Given the description of an element on the screen output the (x, y) to click on. 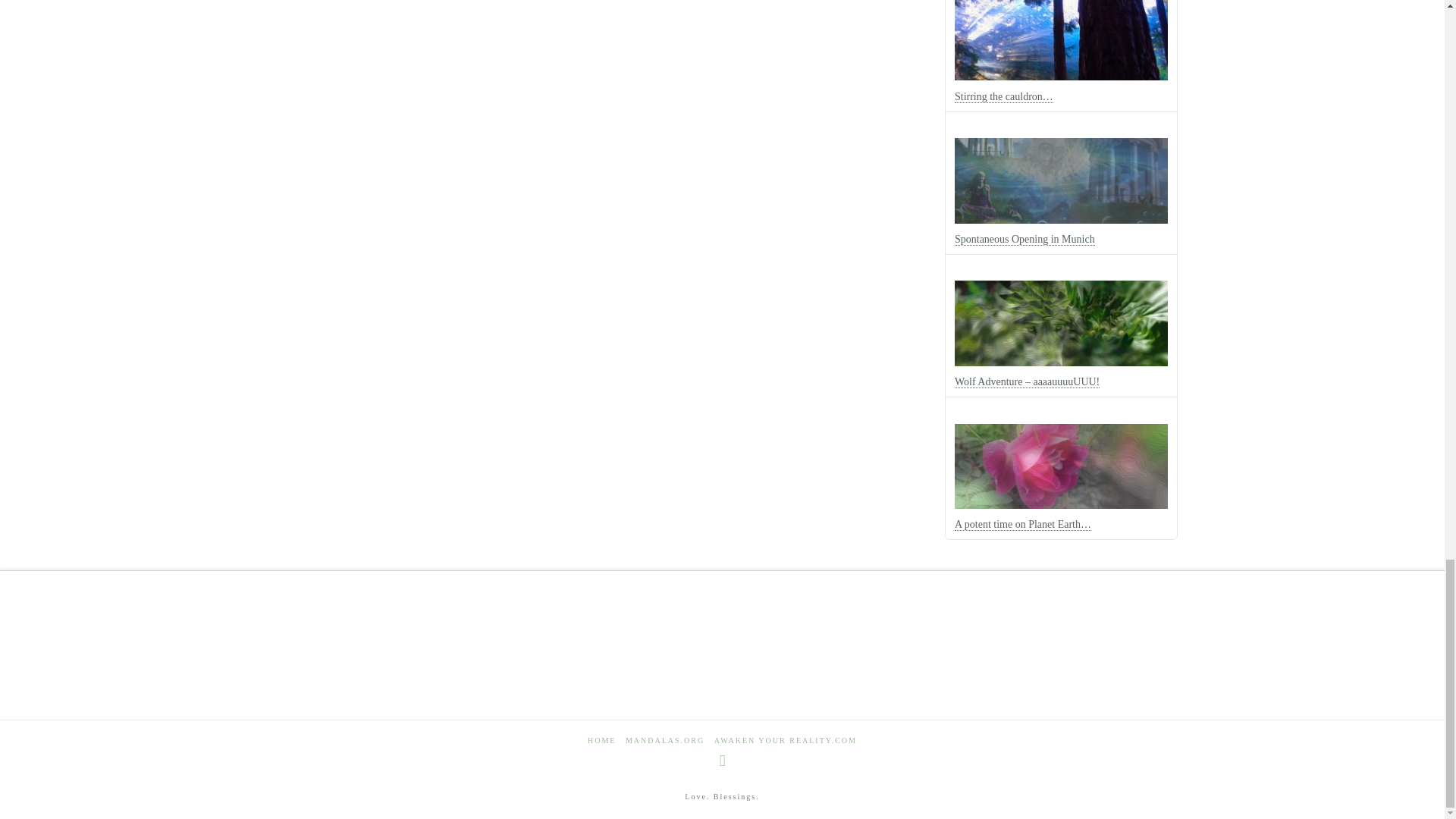
Instagram (722, 760)
